Given the description of an element on the screen output the (x, y) to click on. 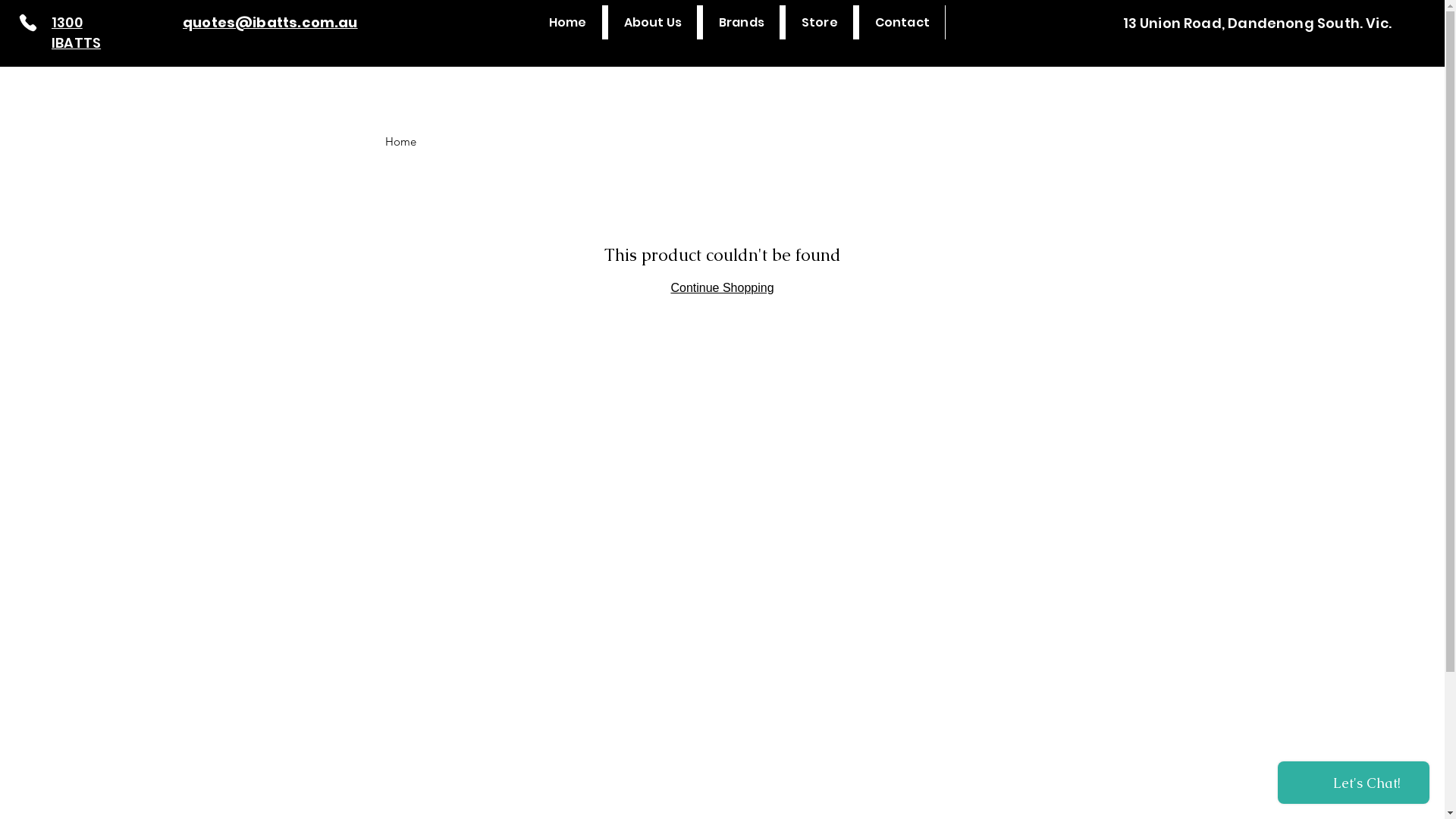
Brands Element type: text (740, 22)
About Us Element type: text (652, 22)
1300 IBATTS Element type: text (75, 32)
Continue Shopping Element type: text (721, 287)
quotes@ibatts.com.au Element type: text (269, 22)
Home Element type: text (400, 141)
Home Element type: text (567, 22)
Contact Element type: text (901, 22)
Store Element type: text (819, 22)
